Given the description of an element on the screen output the (x, y) to click on. 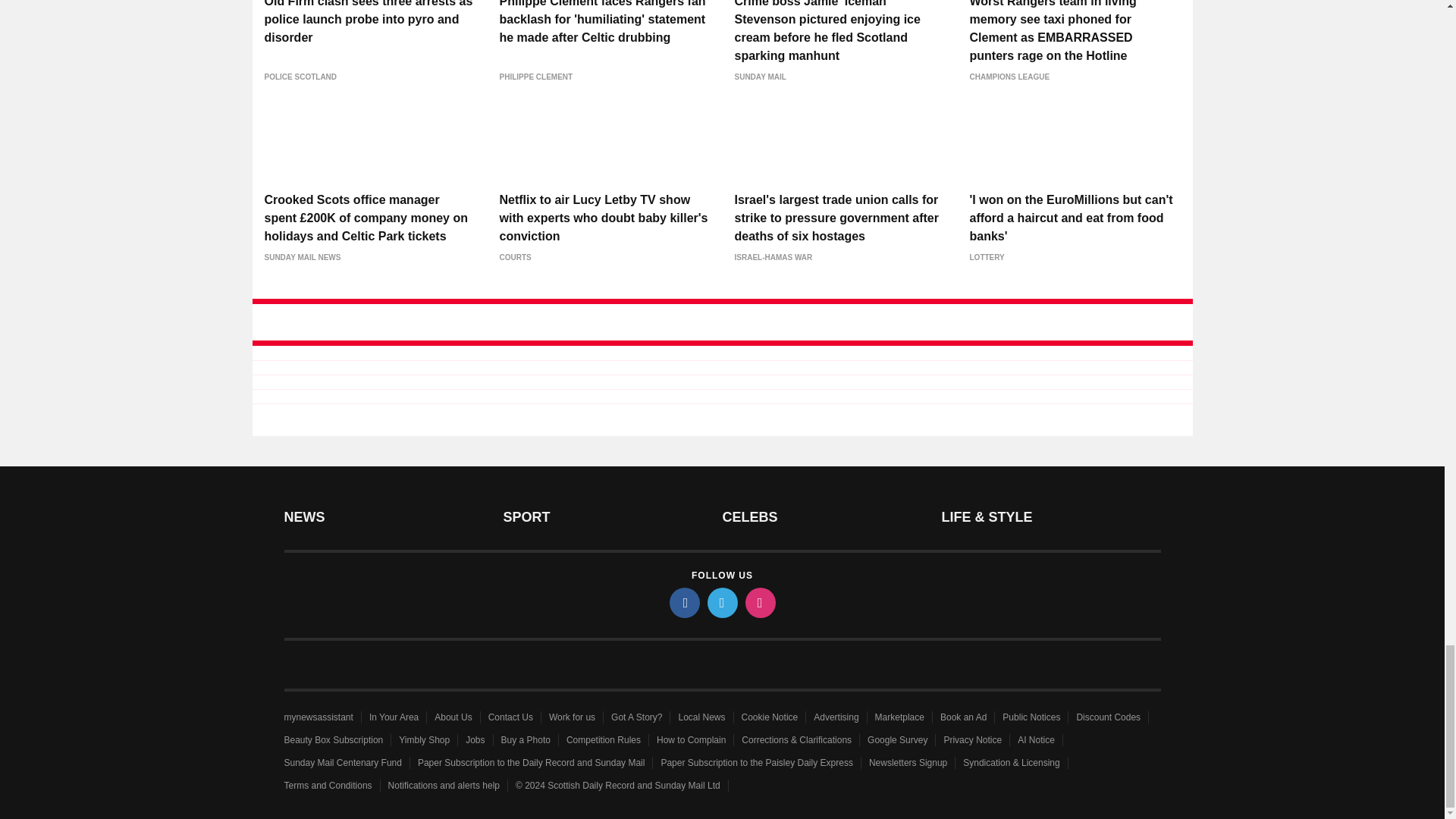
twitter (721, 603)
facebook (683, 603)
instagram (759, 603)
